Given the description of an element on the screen output the (x, y) to click on. 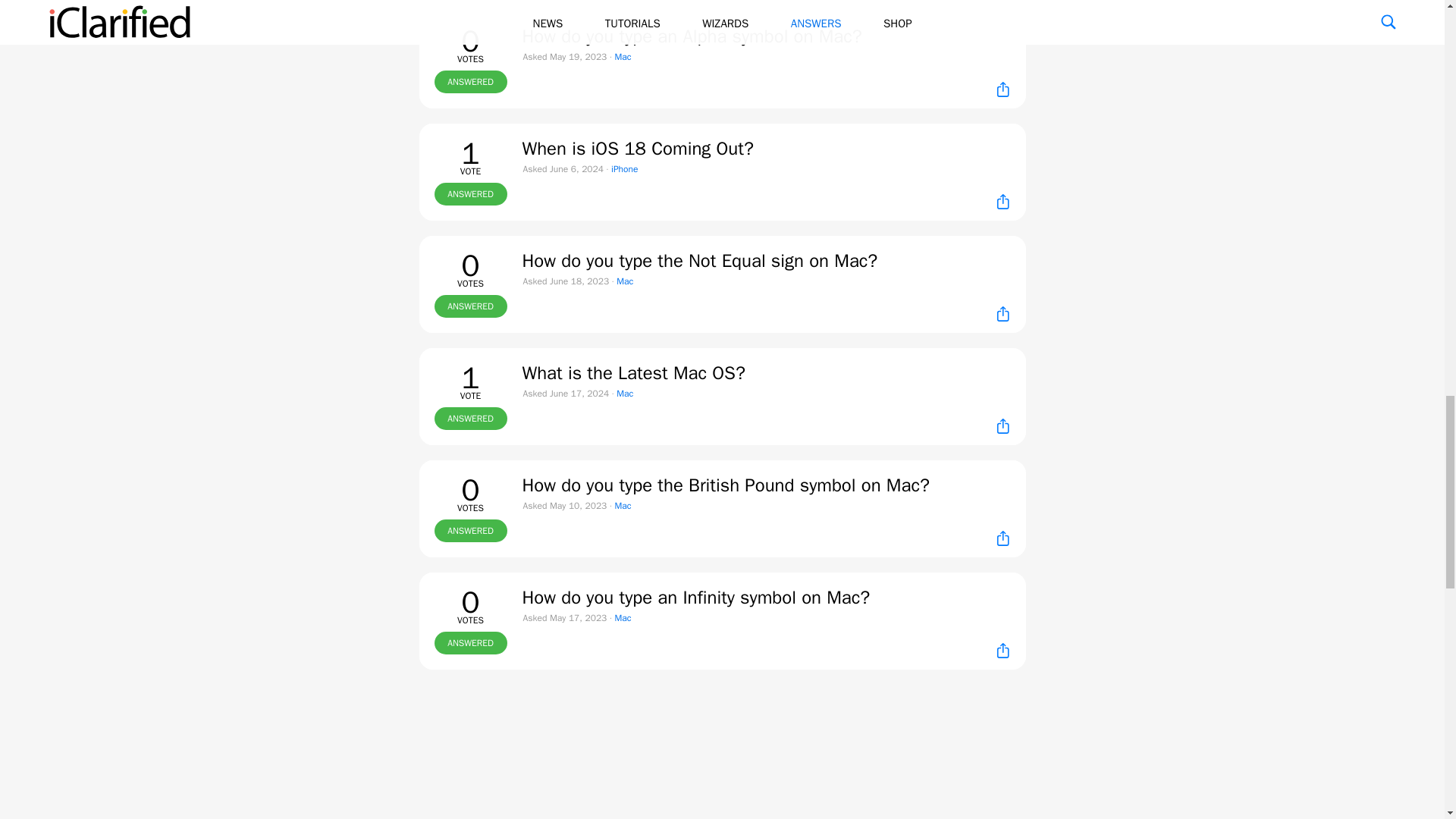
Mac (622, 617)
When is iOS 18 Coming Out? (636, 148)
Mac (622, 505)
Mac (624, 393)
Mac (624, 281)
How do you type the British Pound symbol on Mac? (724, 485)
How do you type an Infinity symbol on Mac? (695, 597)
What is the Latest Mac OS? (632, 372)
Mac (622, 56)
How do you type the Not Equal sign on Mac? (699, 260)
How do you type an Alpha symbol on Mac? (691, 36)
iPhone (624, 168)
